Given the description of an element on the screen output the (x, y) to click on. 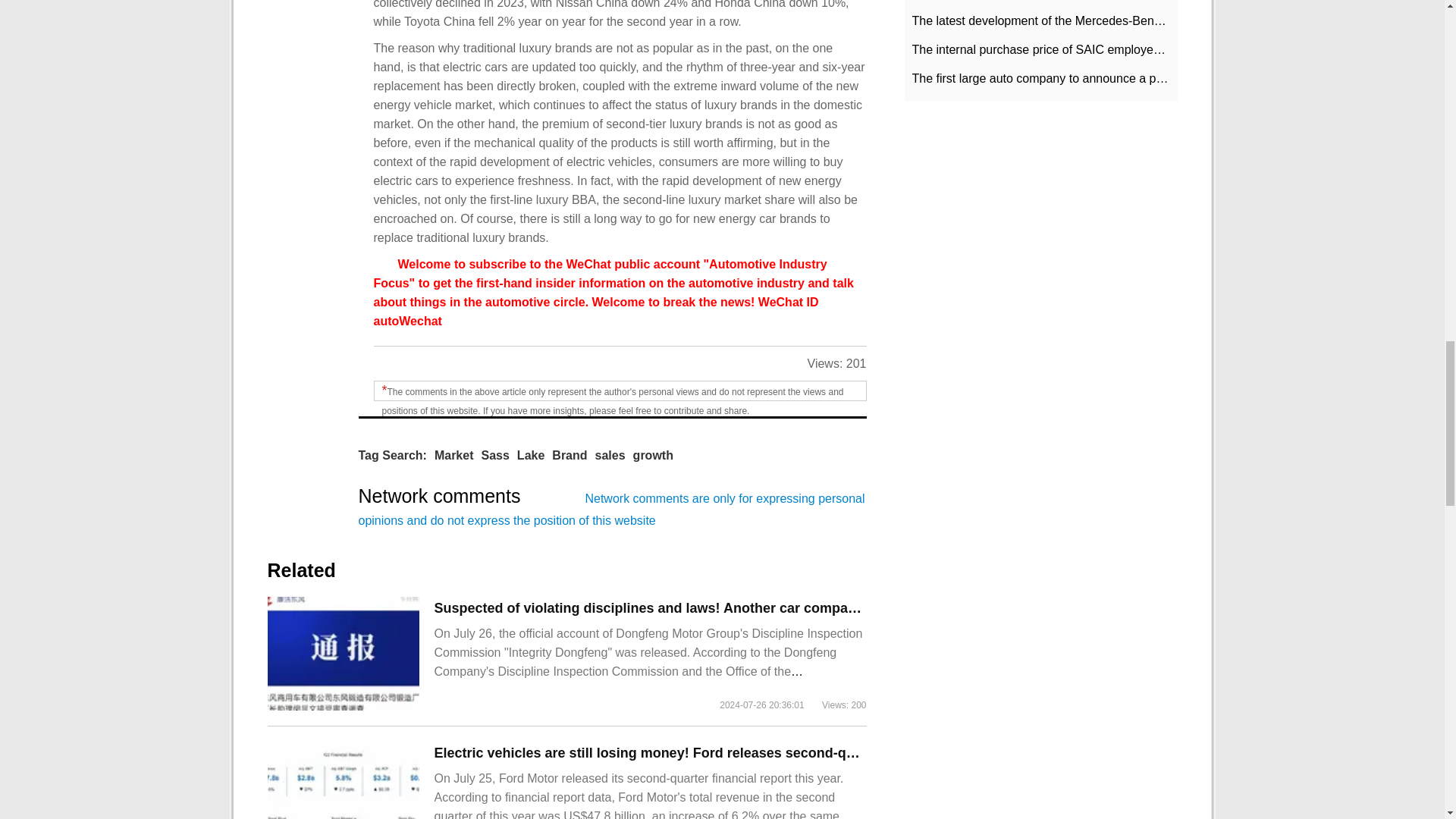
sales (610, 455)
Market (453, 455)
Brand (568, 455)
Sass (494, 455)
Lake (530, 455)
Tag Search: (392, 455)
